Given the description of an element on the screen output the (x, y) to click on. 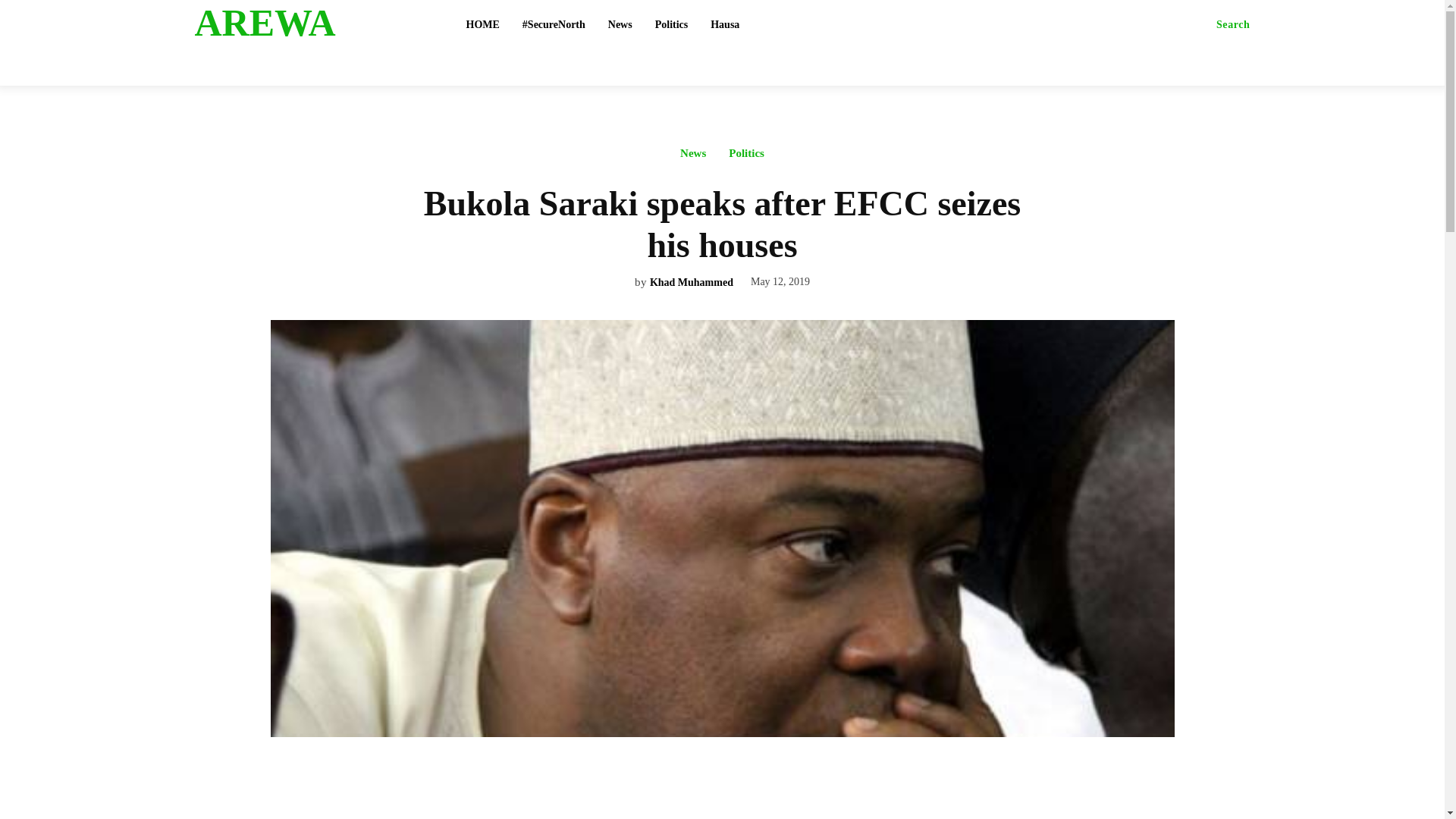
Hausa (724, 24)
Khad Muhammed (691, 282)
Search (1232, 24)
AREWA (311, 22)
Politics (671, 24)
HOME (482, 24)
Politics (746, 156)
News (619, 24)
News (692, 156)
